Given the description of an element on the screen output the (x, y) to click on. 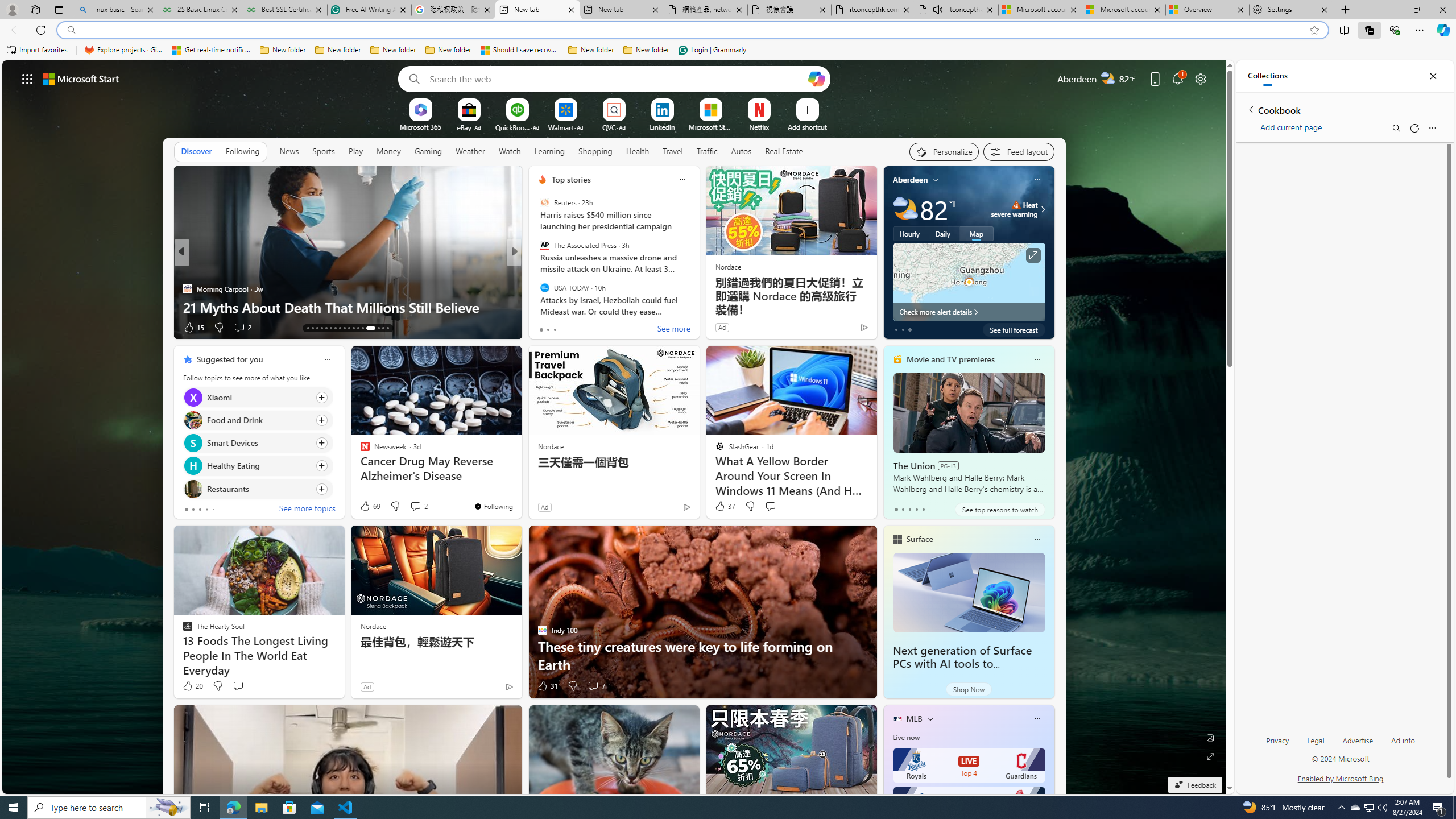
See top reasons to watch (999, 509)
Restaurants (192, 488)
69 Like (368, 505)
AutomationID: tab-16 (321, 328)
Learning (549, 151)
Autos (740, 151)
Sports (323, 151)
New folder (646, 49)
